Given the description of an element on the screen output the (x, y) to click on. 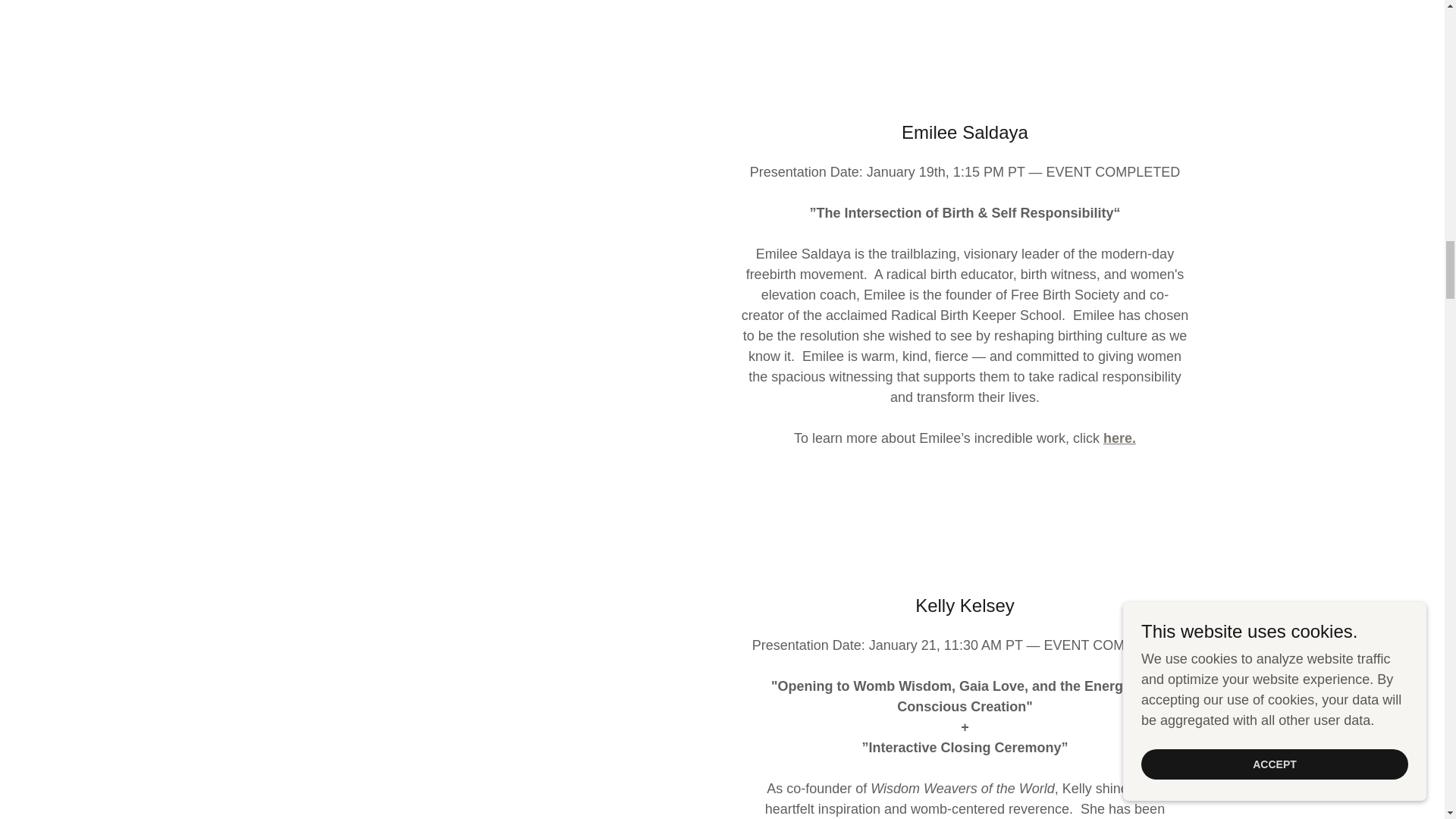
here. (1119, 437)
